Given the description of an element on the screen output the (x, y) to click on. 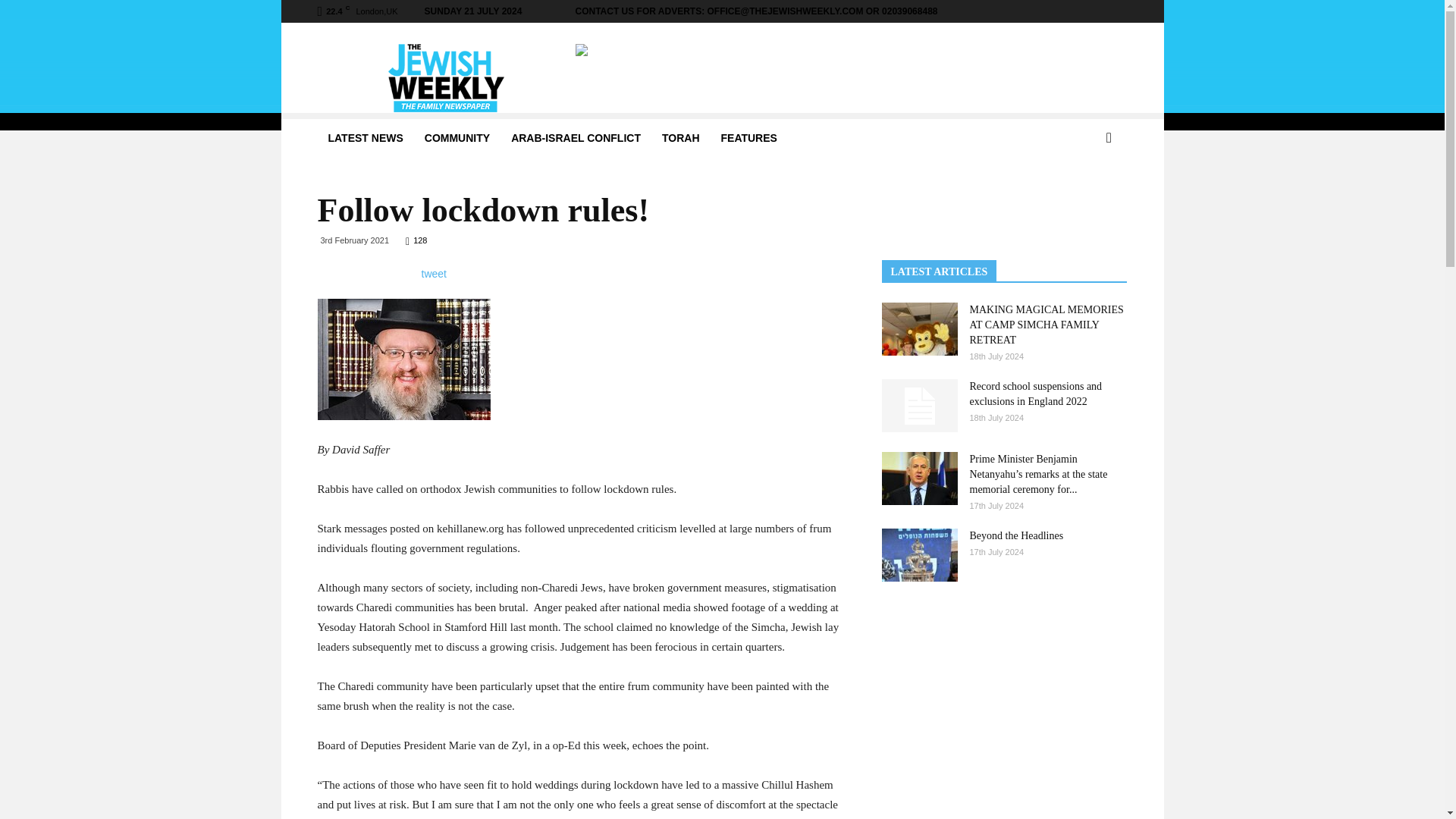
MAKING MAGICAL MEMORIES AT CAMP SIMCHA FAMILY RETREAT (918, 328)
Record school suspensions and exclusions in England 2022 (918, 405)
Record school suspensions and exclusions in England 2022 (1035, 393)
MAKING MAGICAL MEMORIES AT CAMP SIMCHA FAMILY RETREAT (1045, 324)
TORAH (680, 137)
ARAB-ISRAEL CONFLICT (575, 137)
FEATURES (748, 137)
tweet (434, 273)
COMMUNITY (456, 137)
LATEST NEWS (365, 137)
th (403, 359)
